Given the description of an element on the screen output the (x, y) to click on. 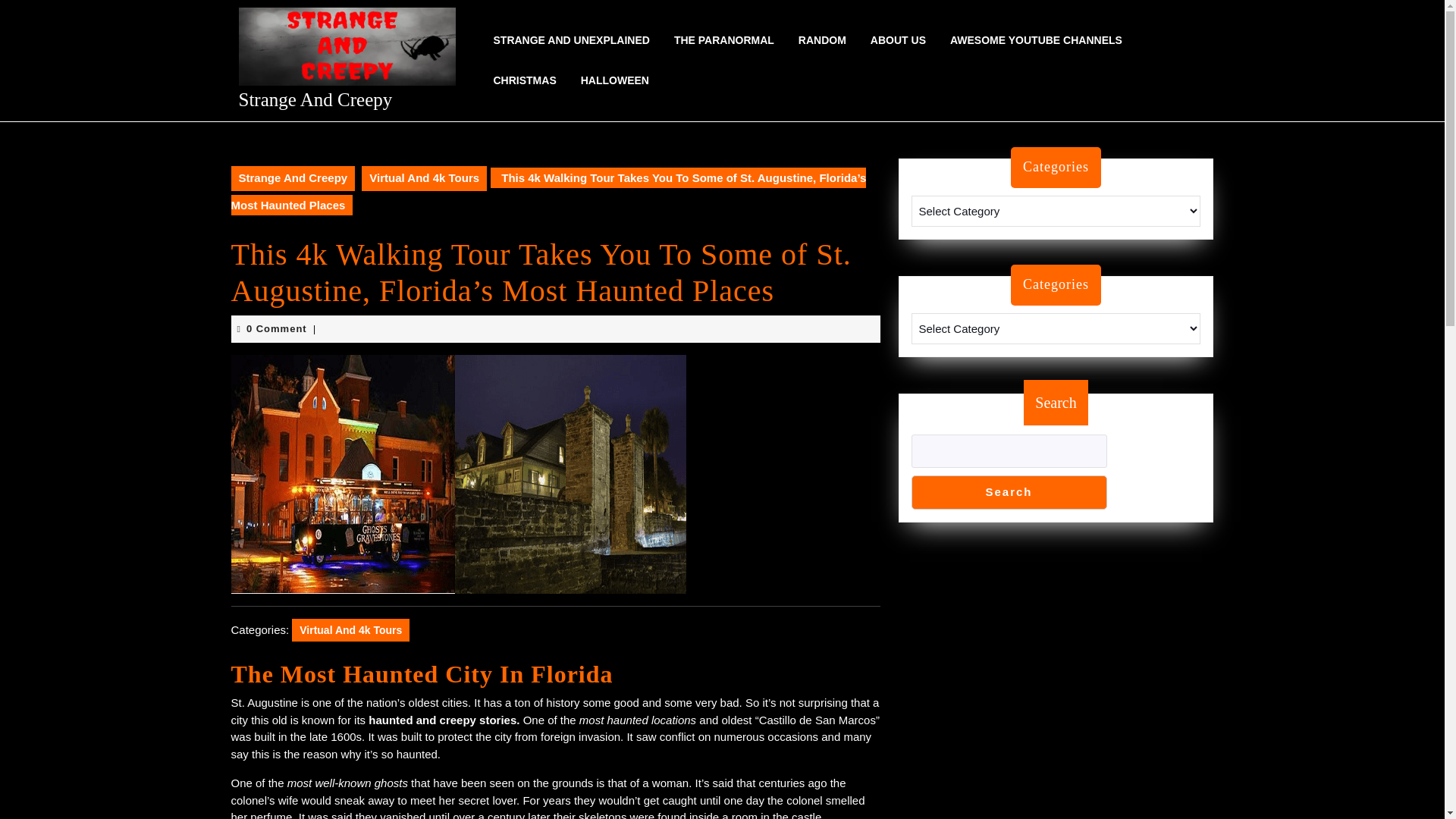
CHRISTMAS (523, 80)
Strange And Creepy (292, 178)
RANDOM (822, 40)
Search (1008, 492)
Virtual And 4k Tours (350, 630)
Virtual And 4k Tours (423, 178)
THE PARANORMAL (724, 40)
Strange And Creepy (314, 99)
STRANGE AND UNEXPLAINED (570, 40)
AWESOME YOUTUBE CHANNELS (1035, 40)
ABOUT US (898, 40)
HALLOWEEN (615, 80)
